Given the description of an element on the screen output the (x, y) to click on. 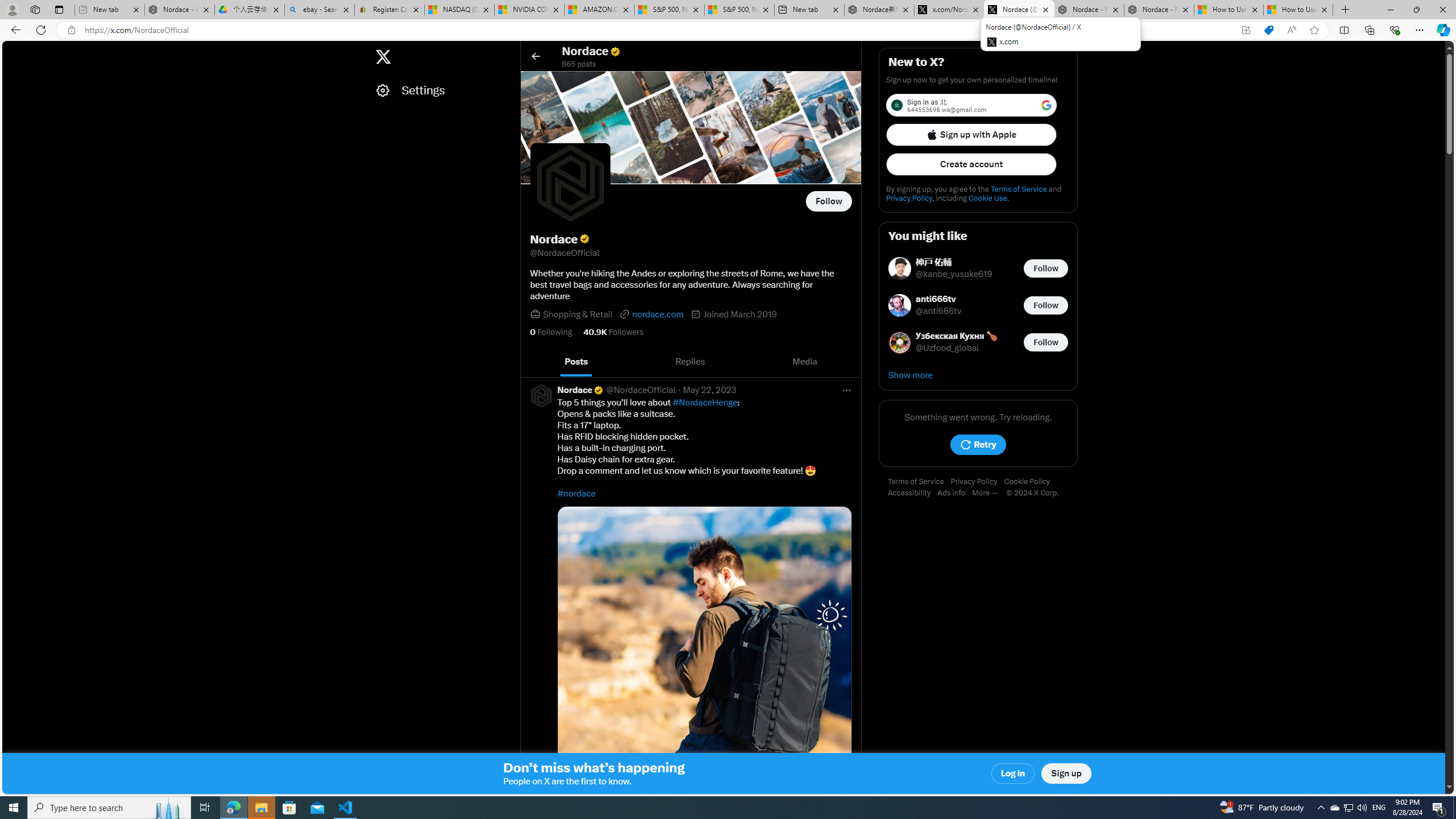
Ads info (954, 492)
Sign up (1066, 773)
Square profile picture and Opens profile photo (569, 182)
Follow @kanbe_yusuke619 (1045, 267)
Shopping & Retail (577, 313)
#NordaceHenge (705, 402)
